Given the description of an element on the screen output the (x, y) to click on. 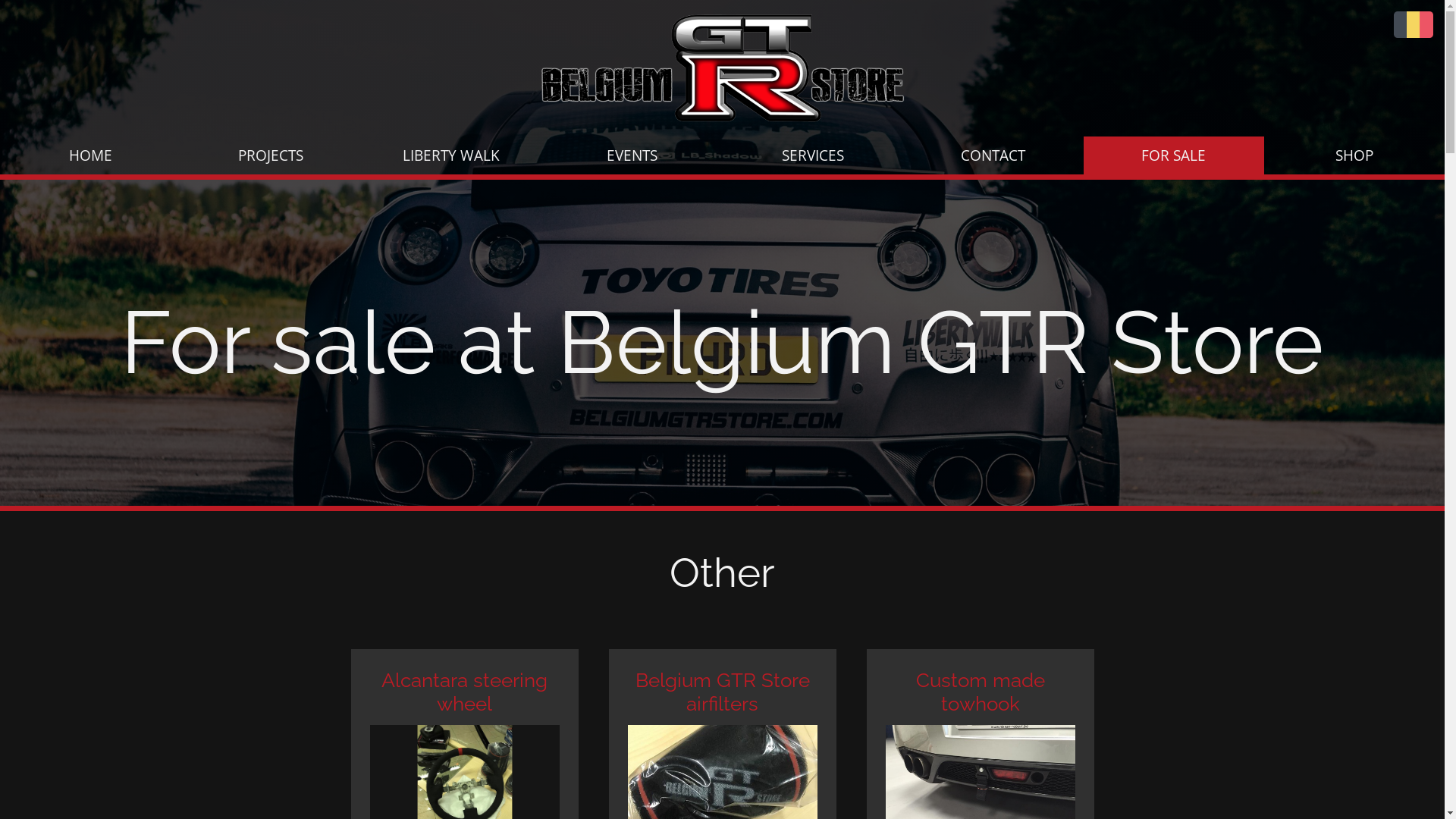
SHOP Element type: text (1354, 155)
SERVICES Element type: text (811, 155)
PROJECTS Element type: text (270, 155)
CONTACT Element type: text (993, 155)
HOME Element type: text (90, 155)
EVENTS Element type: text (631, 155)
LIBERTY WALK Element type: text (450, 155)
FOR SALE Element type: text (1173, 155)
